Given the description of an element on the screen output the (x, y) to click on. 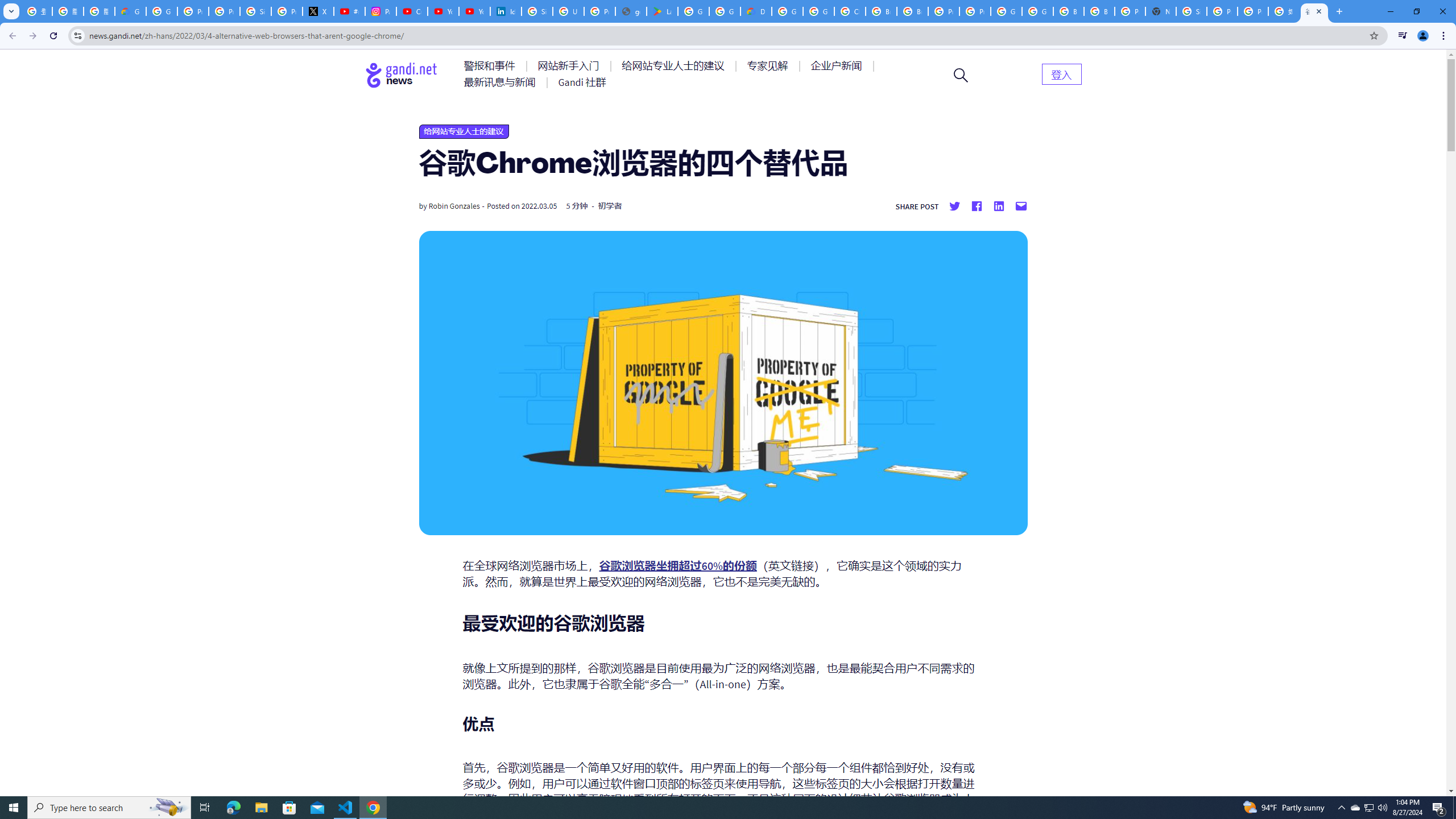
Google Cloud Platform (1005, 11)
AutomationID: menu-item-77761 (492, 65)
Share on Linkedin (998, 205)
Browse Chrome as a guest - Computer - Google Chrome Help (912, 11)
AutomationID: menu-item-77765 (838, 65)
AutomationID: menu-item-82399 (1061, 73)
New Tab (1160, 11)
